Given the description of an element on the screen output the (x, y) to click on. 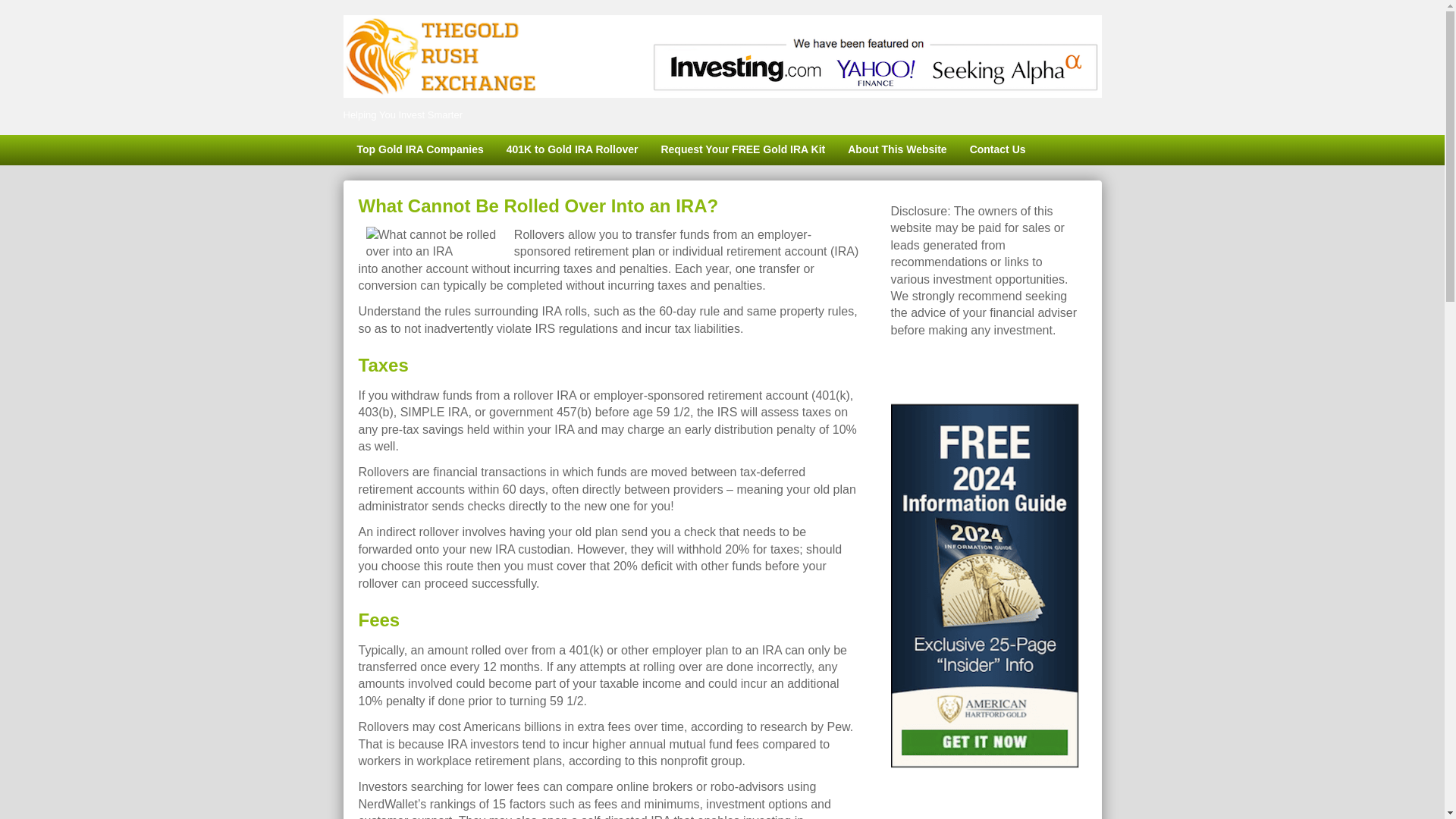
Contact Us (997, 150)
401K to Gold IRA Rollover (572, 150)
Request Your FREE Gold IRA Kit (742, 150)
Top Gold IRA Companies (418, 150)
About This Website (896, 150)
